Given the description of an element on the screen output the (x, y) to click on. 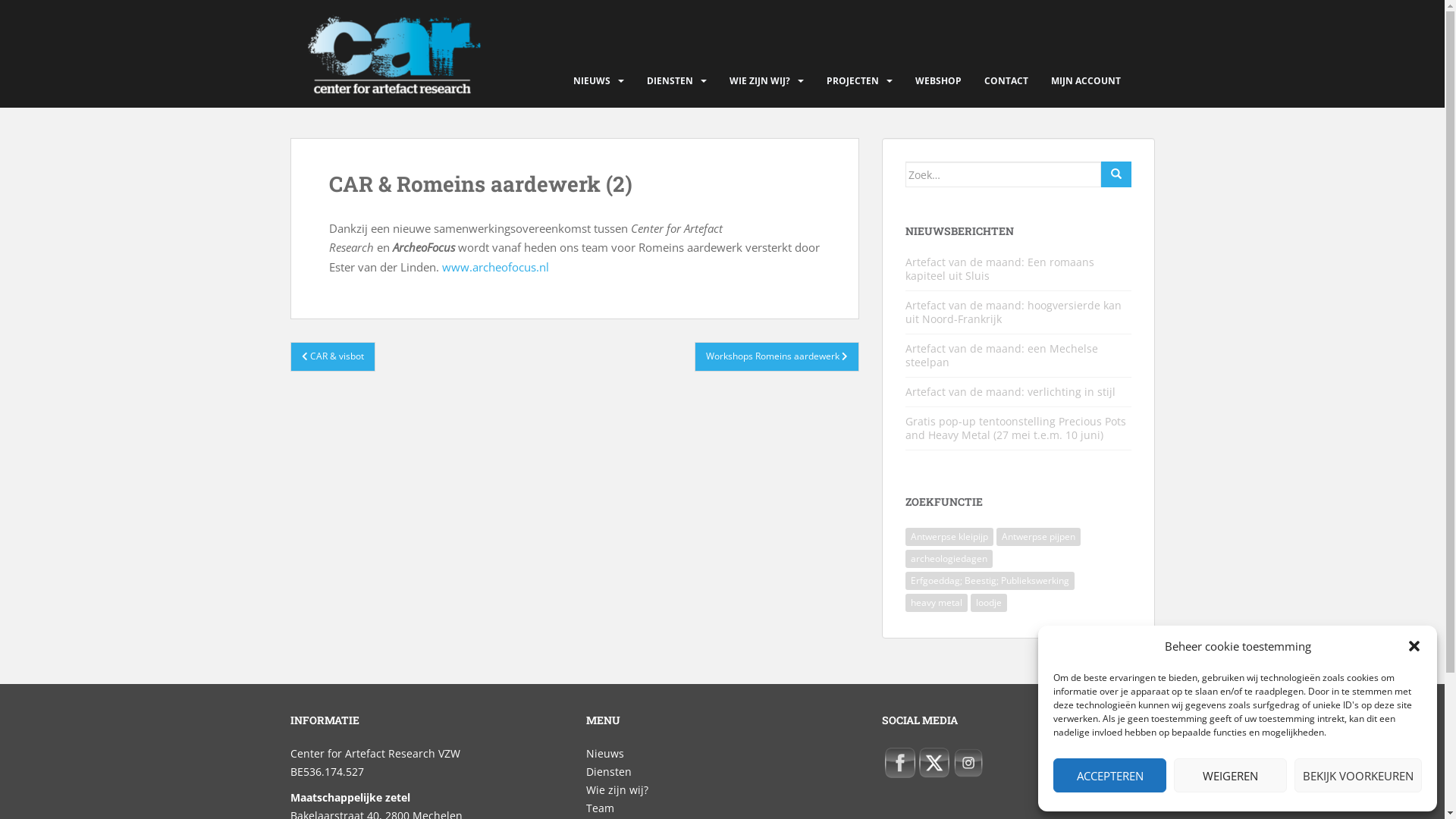
Antwerpse kleipijp Element type: text (949, 536)
Facebook Element type: hover (899, 762)
CAR & visbot Element type: text (331, 356)
Wie zijn wij? Element type: text (616, 789)
Artefact van de maand: hoogversierde kan uit Noord-Frankrijk Element type: text (1013, 312)
Twitter Element type: hover (934, 762)
loodje Element type: text (988, 602)
CONTACT Element type: text (1006, 80)
heavy metal Element type: text (936, 602)
PROJECTEN Element type: text (852, 80)
Diensten Element type: text (607, 771)
WEBSHOP Element type: text (937, 80)
Antwerpse pijpen Element type: text (1038, 536)
Artefact van de maand: verlichting in stijl Element type: text (1010, 391)
NIEUWS Element type: text (591, 80)
Zoeken naar: Element type: hover (1003, 174)
Artefact van de maand: Een romaans kapiteel uit Sluis Element type: text (999, 268)
ACCEPTEREN Element type: text (1109, 775)
BEKIJK VOORKEUREN Element type: text (1357, 775)
Zoeken Element type: text (1116, 174)
Nieuws Element type: text (604, 753)
Team Element type: text (599, 807)
Artefact van de maand: een Mechelse steelpan Element type: text (1001, 355)
WIE ZIJN WIJ? Element type: text (759, 80)
WEIGEREN Element type: text (1229, 775)
Erfgoeddag; Beestig; Publiekswerking Element type: text (989, 580)
archeologiedagen Element type: text (948, 558)
MIJN ACCOUNT Element type: text (1085, 80)
DIENSTEN Element type: text (669, 80)
www.archeofocus.nl Element type: text (494, 266)
Workshops Romeins aardewerk Element type: text (776, 356)
